Given the description of an element on the screen output the (x, y) to click on. 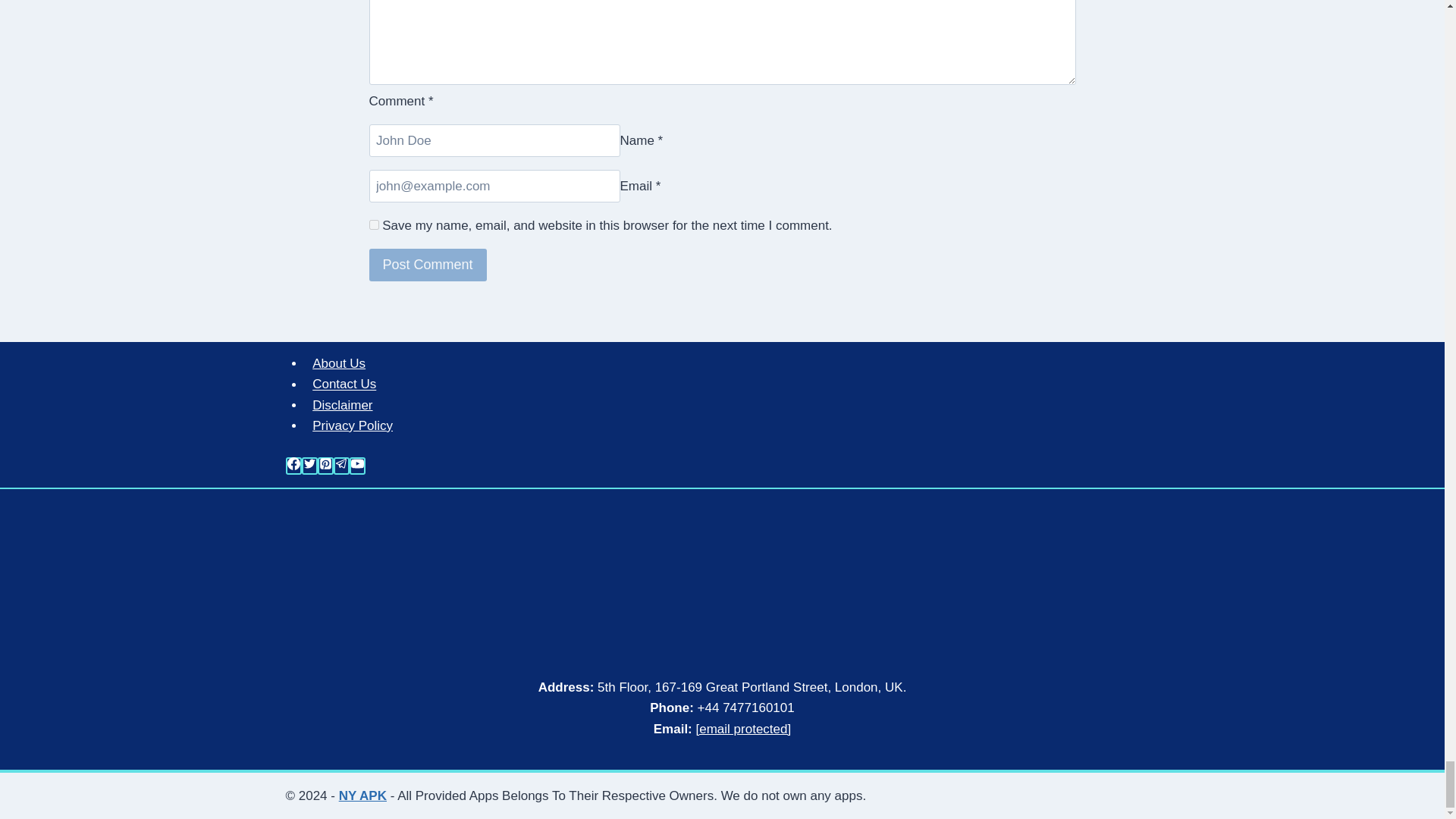
Post Comment (427, 264)
yes (373, 225)
